Given the description of an element on the screen output the (x, y) to click on. 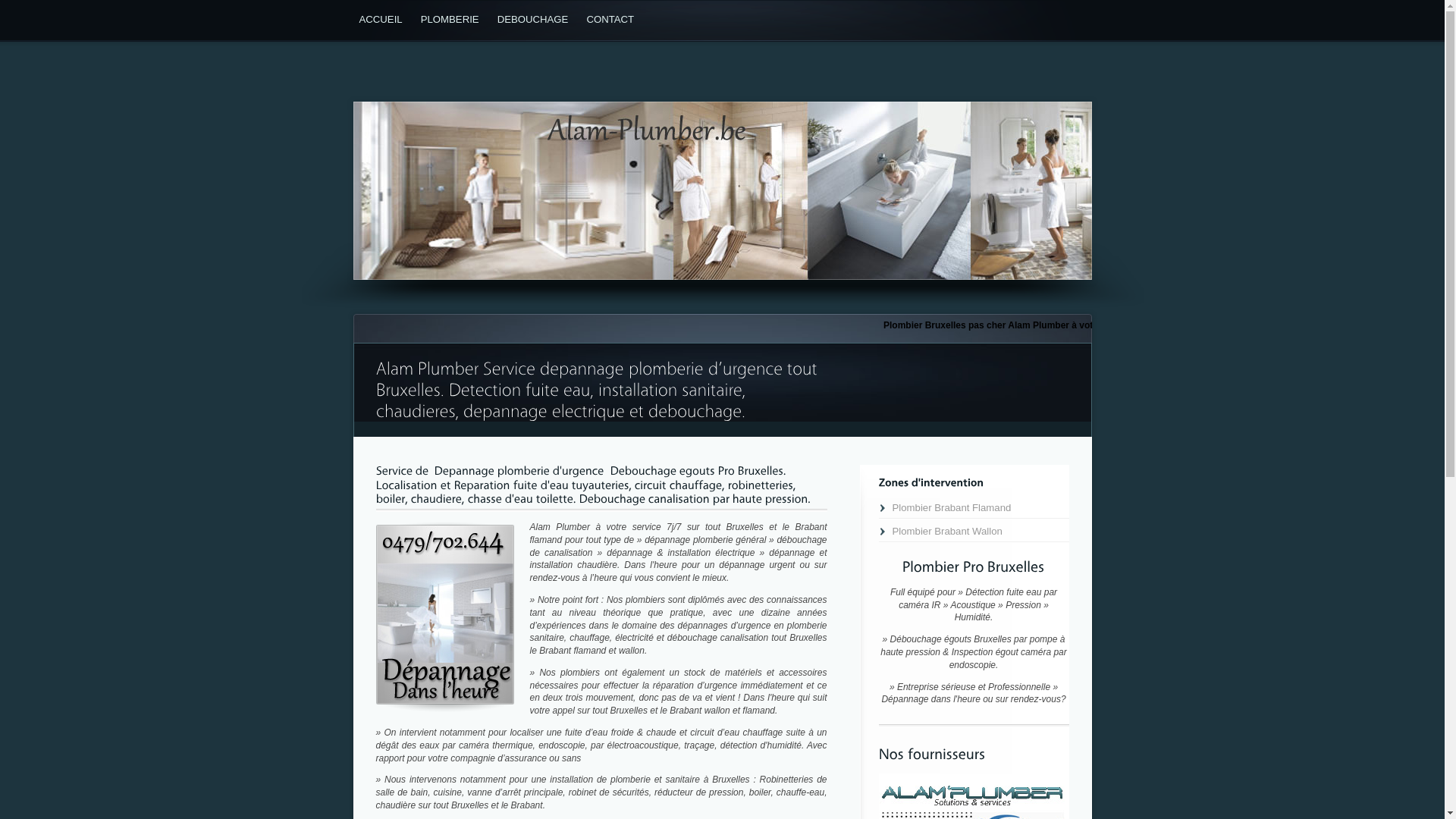
ACCUEIL Element type: text (383, 20)
CONTACT Element type: text (613, 20)
Plombier Brabant Wallon Element type: text (973, 530)
PLOMBERIE Element type: text (452, 20)
DEBOUCHAGE Element type: text (535, 20)
Plombier Brabant Flamand Element type: text (973, 507)
